Given the description of an element on the screen output the (x, y) to click on. 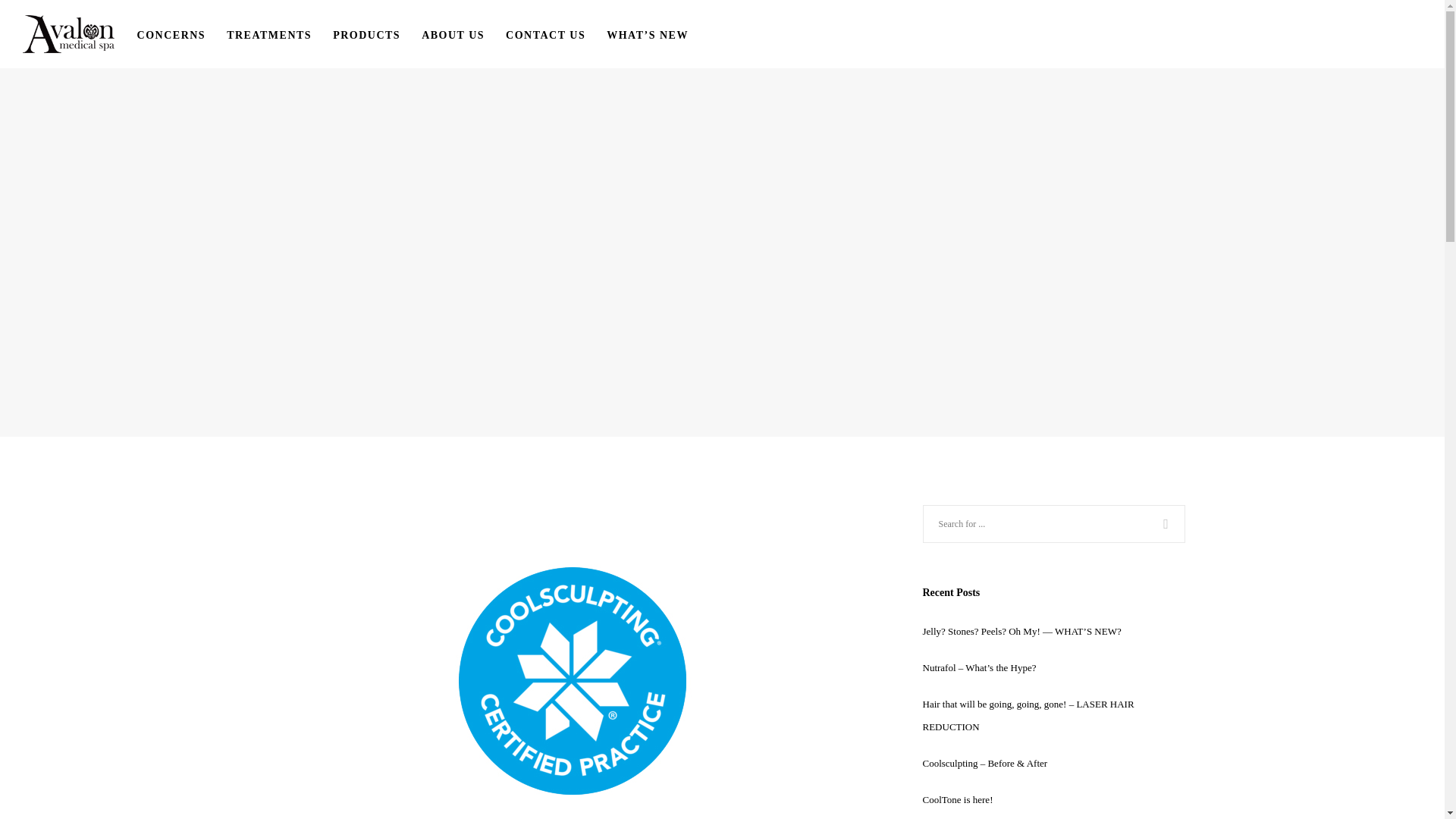
CONTACT US (556, 33)
PRODUCTS (377, 33)
ABOUT US (463, 33)
TREATMENTS (280, 33)
CoolTone is here! (956, 799)
CONCERNS (181, 33)
